Given the description of an element on the screen output the (x, y) to click on. 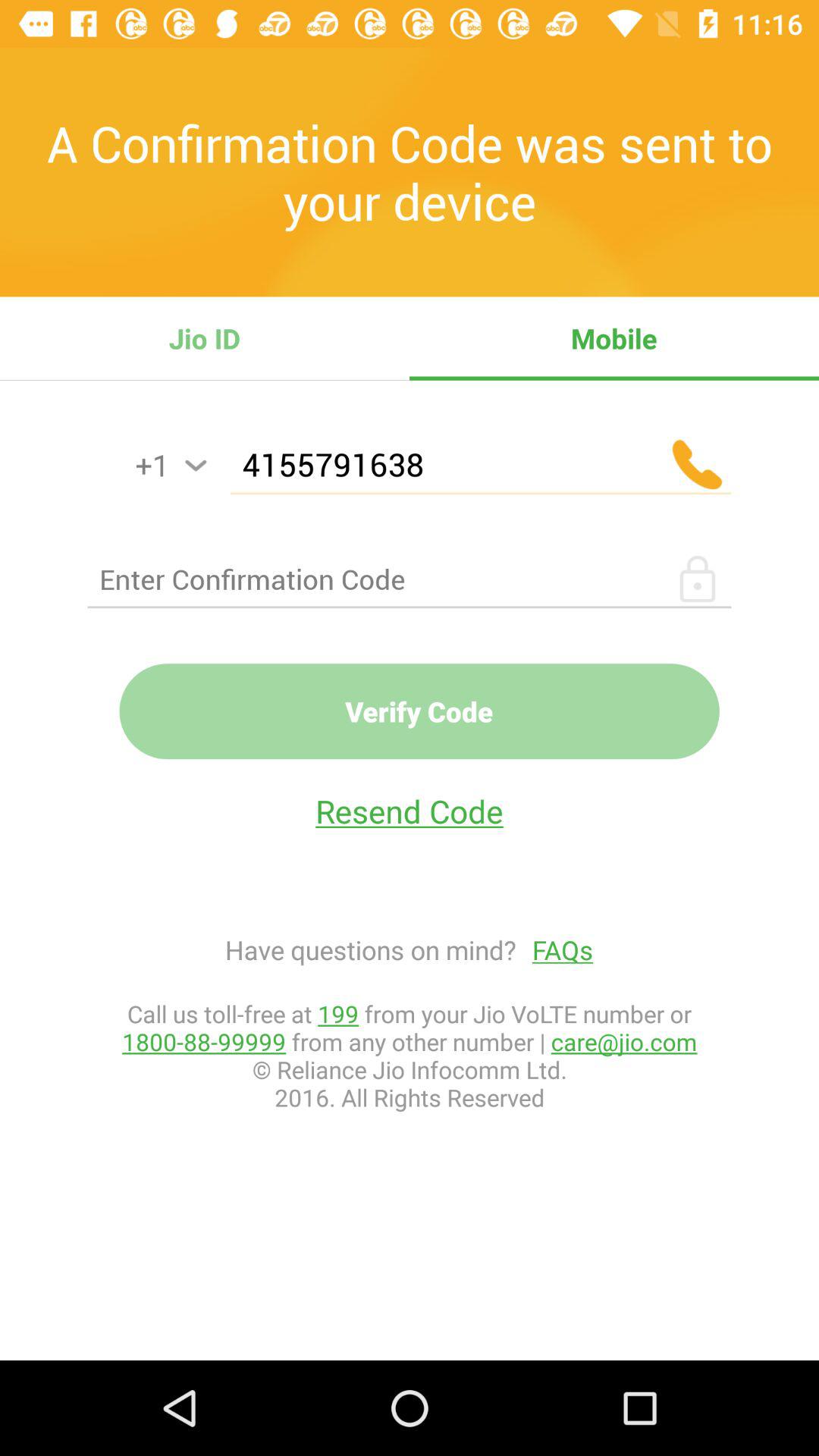
confirmation code text bar (409, 578)
